Given the description of an element on the screen output the (x, y) to click on. 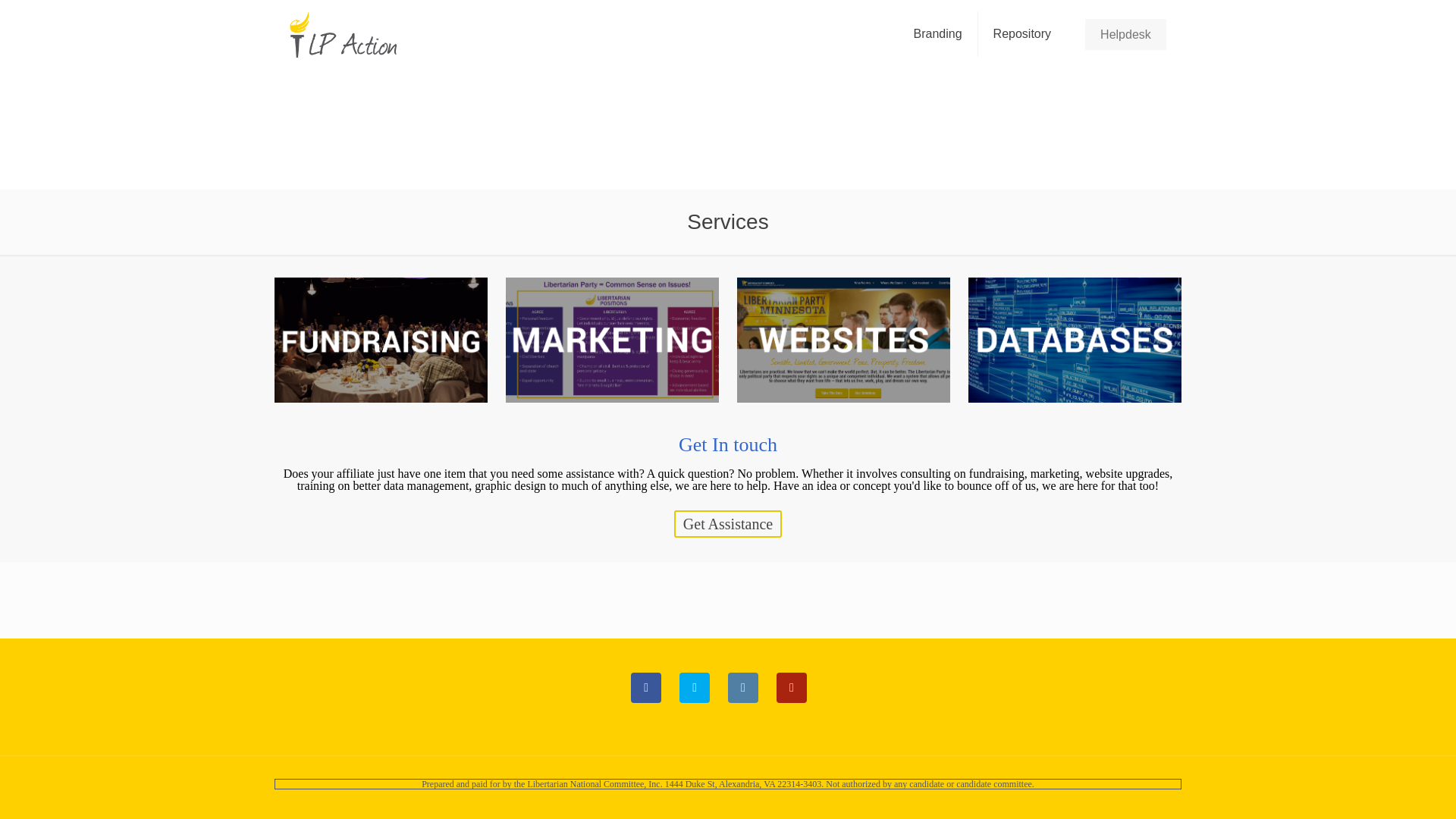
Helpdesk (1125, 33)
LP Action (342, 33)
Get Assistance (727, 523)
Repository (1021, 33)
Branding (938, 33)
